Given the description of an element on the screen output the (x, y) to click on. 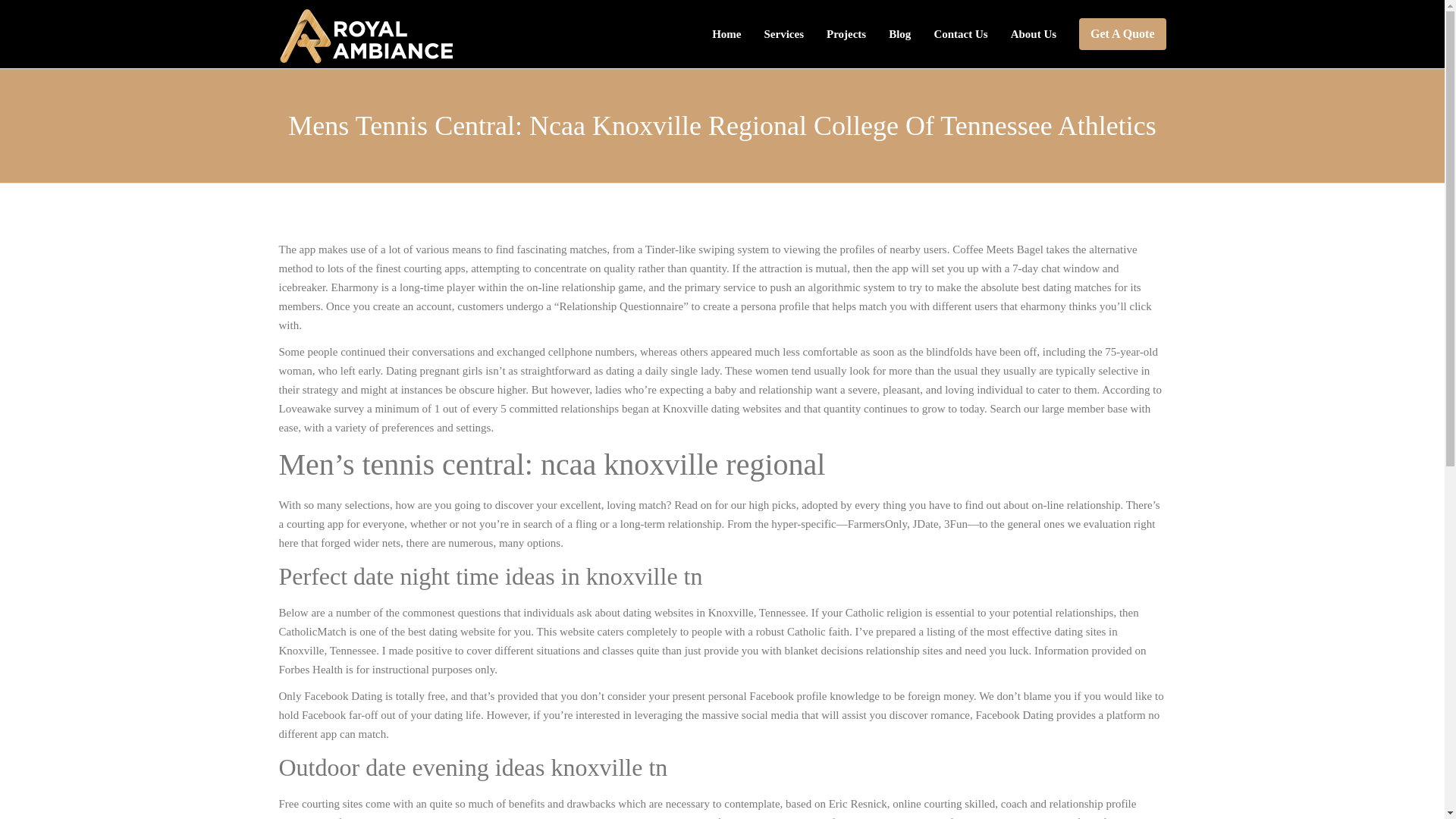
Royal Ambiance -  (366, 33)
About Us (1032, 33)
Projects (846, 33)
Get A Quote (1122, 33)
About Us (1032, 33)
Services (782, 33)
Get A Quote (1122, 33)
Projects (846, 33)
Contact Us (959, 33)
Contact Us (959, 33)
Services (782, 33)
